Given the description of an element on the screen output the (x, y) to click on. 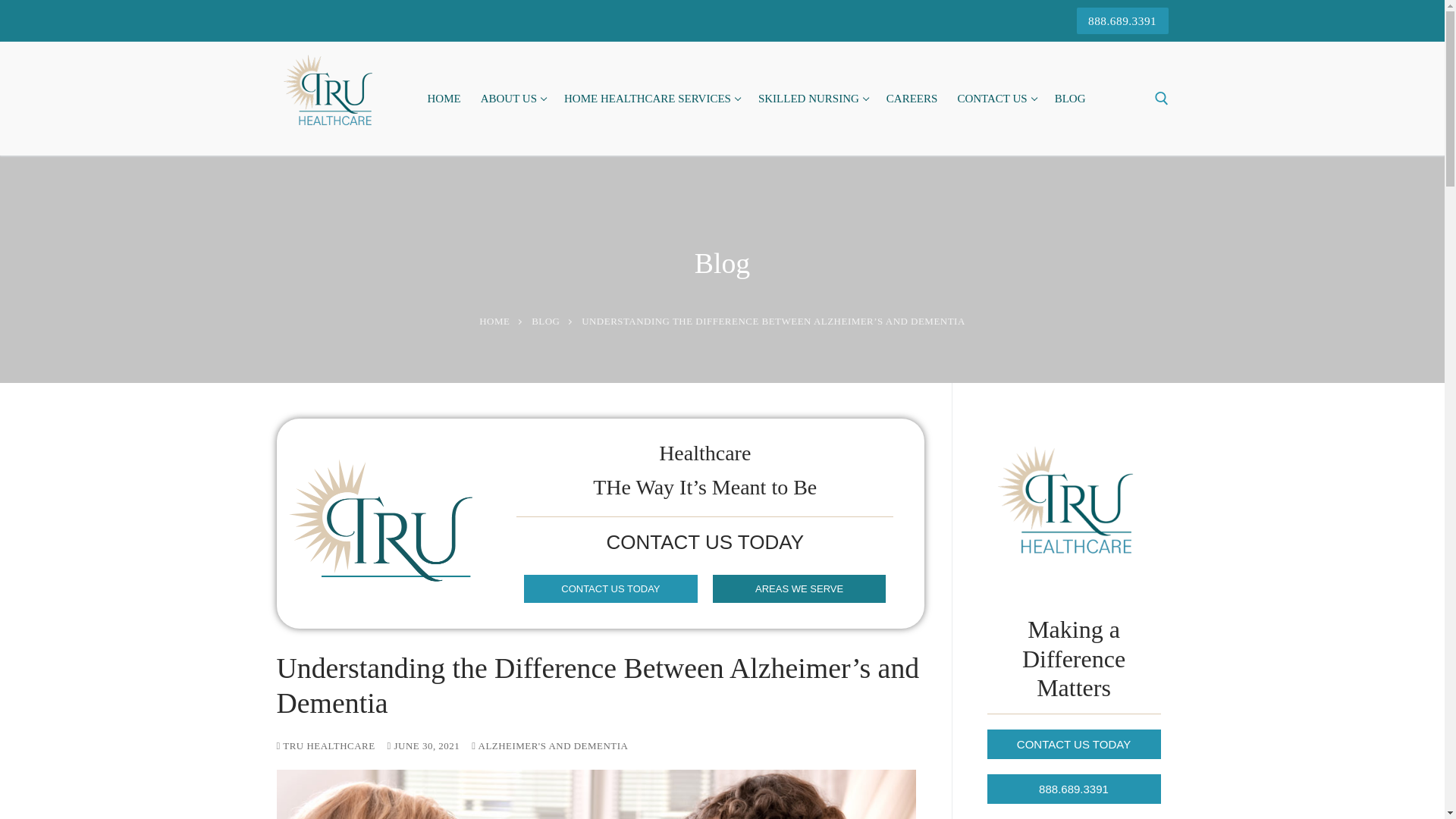
CAREERS (911, 98)
HOME (512, 98)
BLOG (651, 98)
888.689.3391 (995, 98)
